Given the description of an element on the screen output the (x, y) to click on. 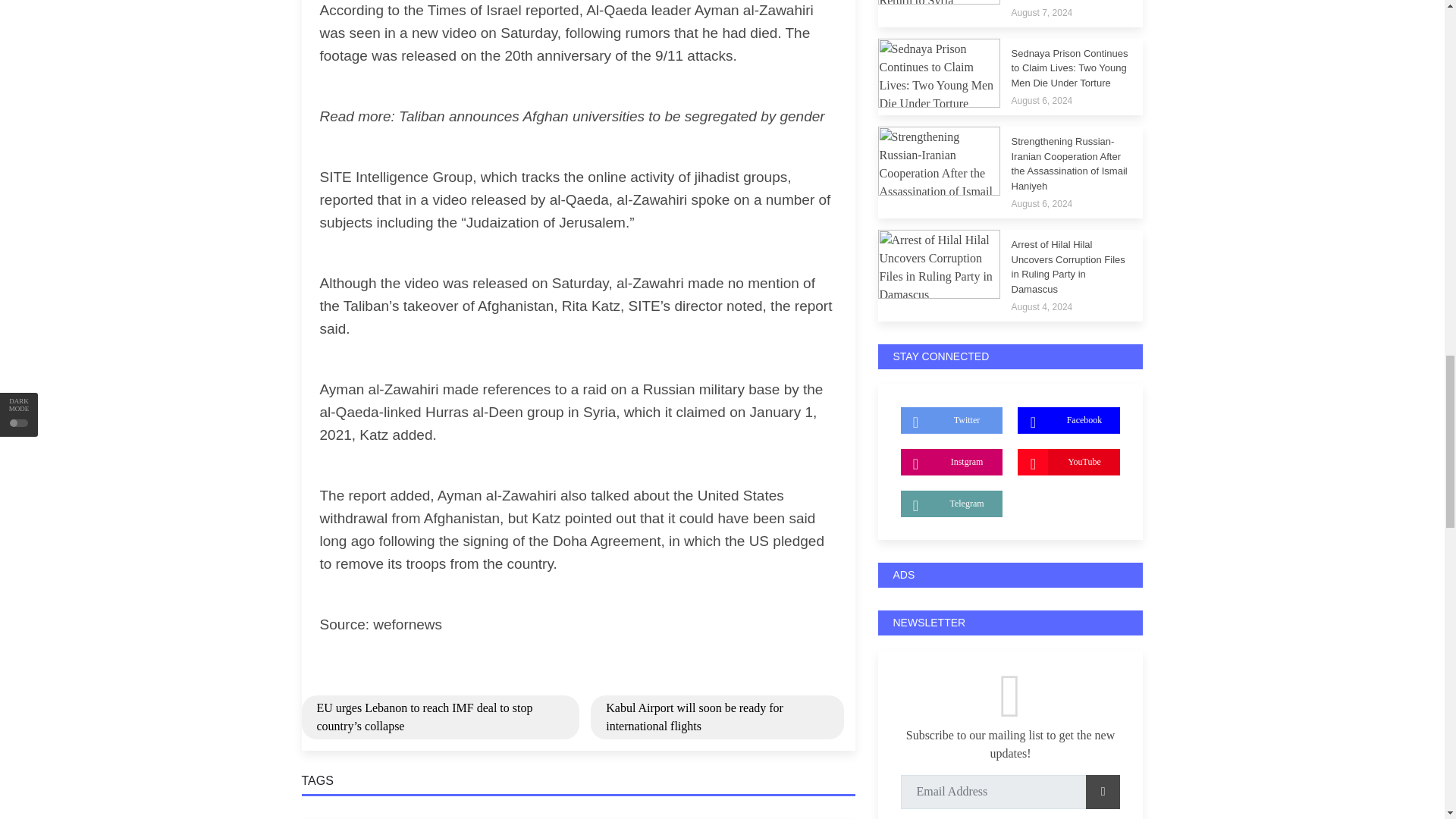
wefornews (407, 624)
Kabul Airport will soon be ready for international flights (717, 717)
